Given the description of an element on the screen output the (x, y) to click on. 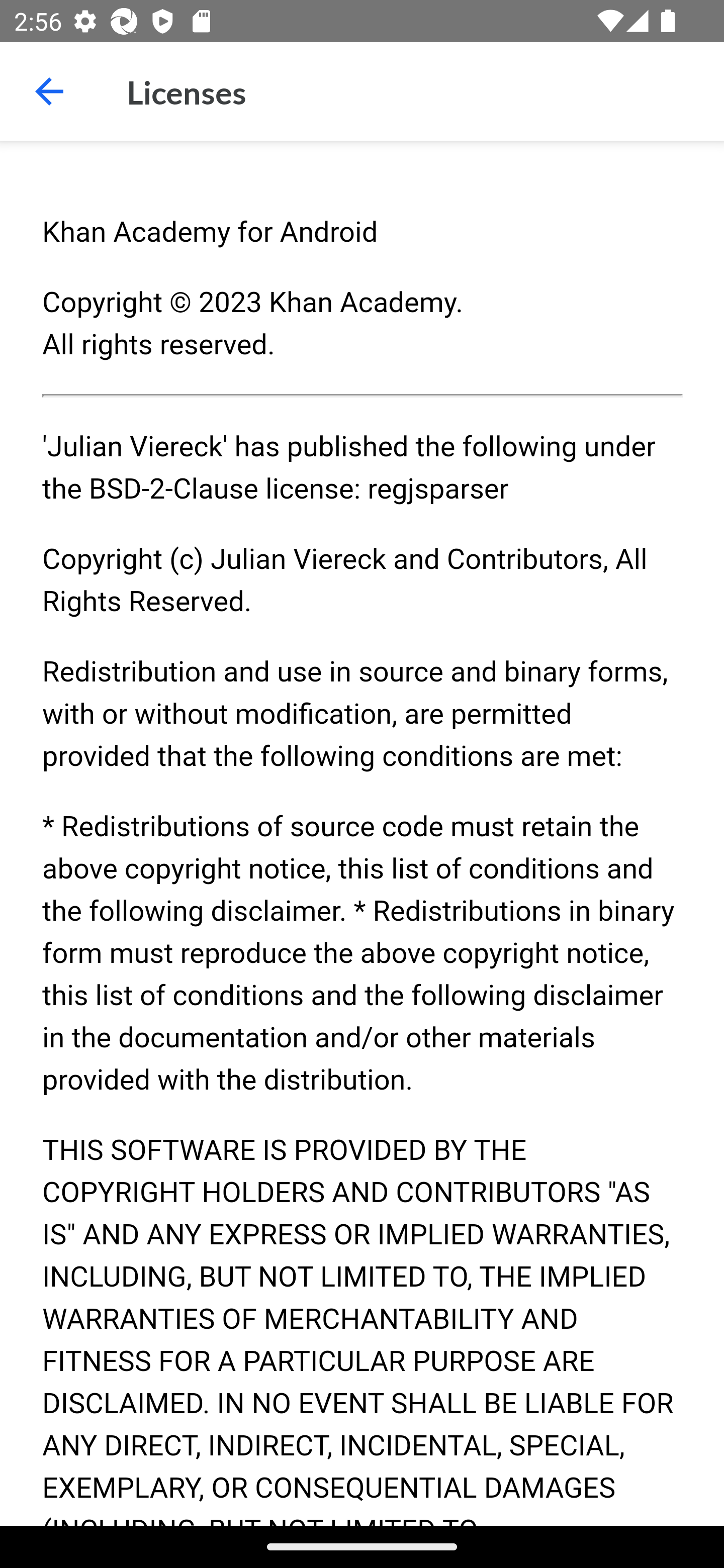
Navigate up (49, 91)
